Given the description of an element on the screen output the (x, y) to click on. 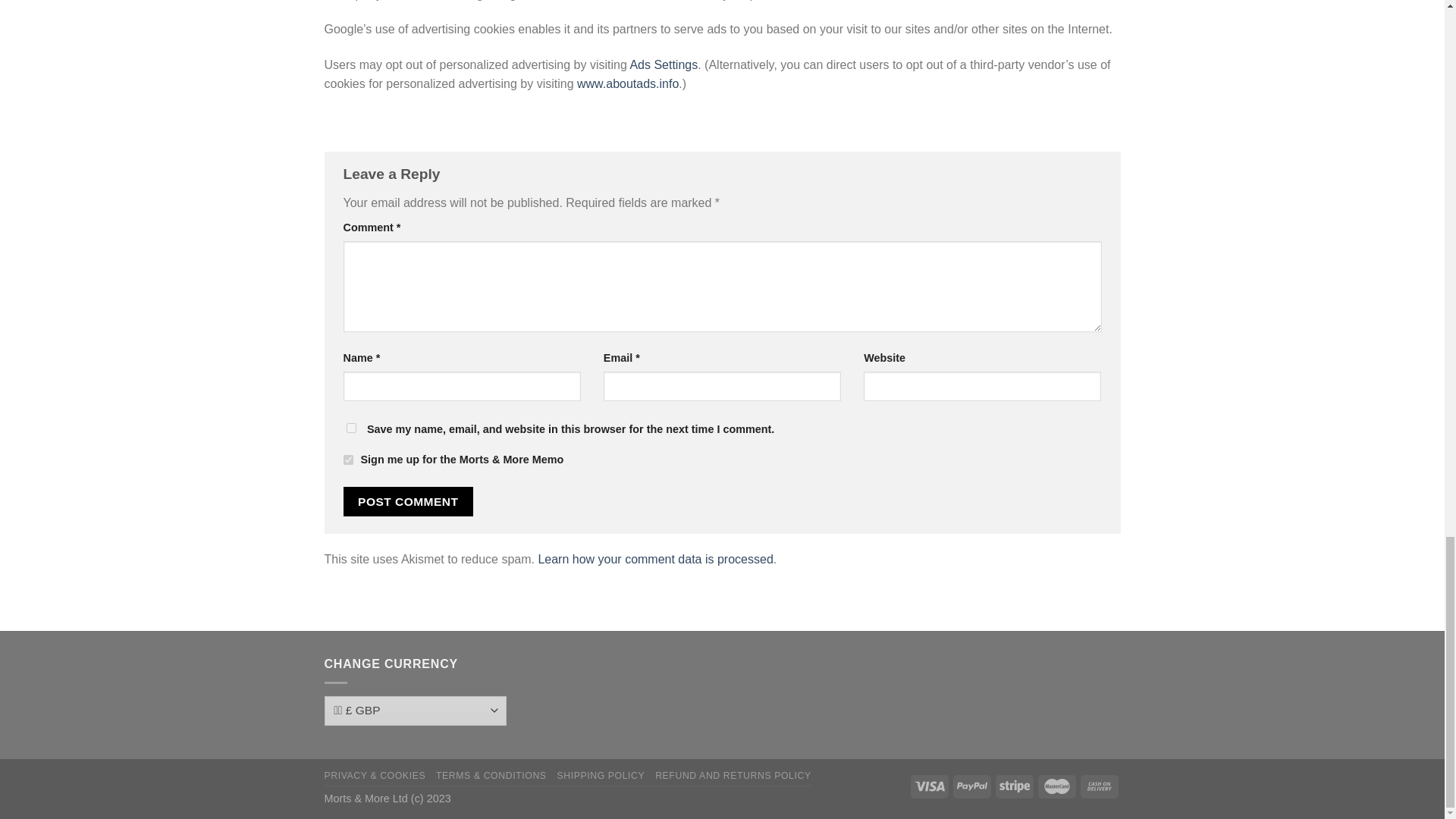
Post Comment (407, 501)
1 (347, 460)
Ads Settings (662, 64)
SHIPPING POLICY (600, 775)
Post Comment (407, 501)
yes (350, 428)
Learn how your comment data is processed (655, 558)
REFUND AND RETURNS POLICY (732, 775)
www.aboutads.info (627, 83)
